Given the description of an element on the screen output the (x, y) to click on. 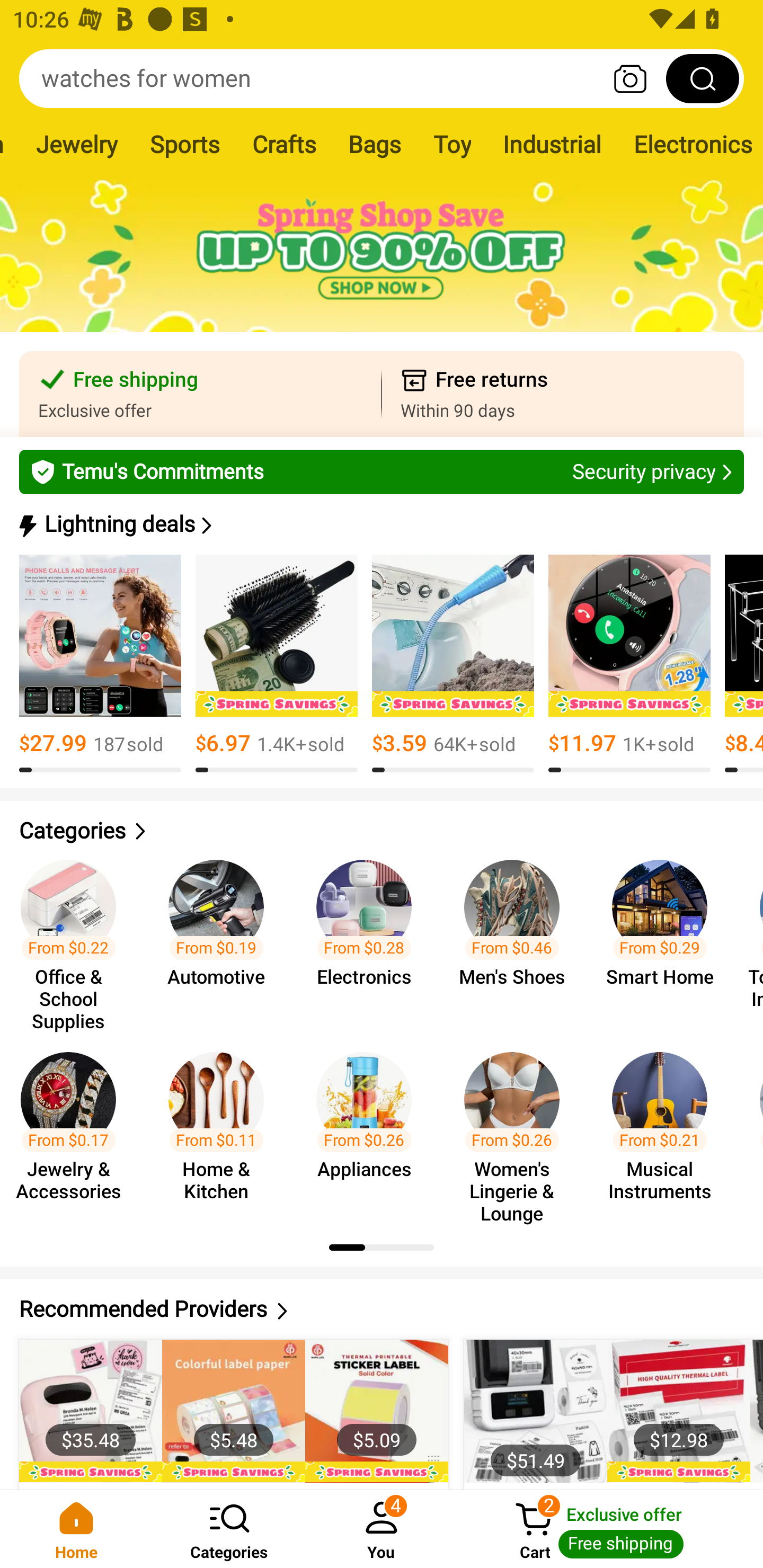
watches for women (381, 78)
Jewelry (76, 144)
Sports (184, 144)
Crafts (283, 144)
Bags (374, 144)
Toy (451, 144)
Industrial (551, 144)
Electronics (690, 144)
Free shipping Exclusive offer (200, 394)
Free returns Within 90 days (562, 394)
Temu's Commitments (381, 471)
Lightning deals (379, 524)
$27.99 187￼sold 8.0 (100, 664)
$6.97 1.4K+￼sold 8.0 (276, 664)
$3.59 64K+￼sold 8.0 (453, 664)
$11.97 1K+￼sold 8.0 (629, 664)
Categories (381, 830)
From $0.22 Office & School Supplies (74, 936)
From $0.19 Automotive (222, 936)
From $0.28 Electronics (369, 936)
From $0.46 Men's Shoes (517, 936)
From $0.29 Smart Home (665, 936)
From $0.17 Jewelry & Accessories (74, 1128)
From $0.11 Home & Kitchen (222, 1128)
From $0.26 Appliances (369, 1128)
From $0.26 Women's Lingerie & Lounge (517, 1128)
From $0.21 Musical Instruments (665, 1128)
Recommended Providers (381, 1309)
Home (76, 1528)
Categories (228, 1528)
You 4 You (381, 1528)
Cart 2 Cart Exclusive offer (610, 1528)
